Given the description of an element on the screen output the (x, y) to click on. 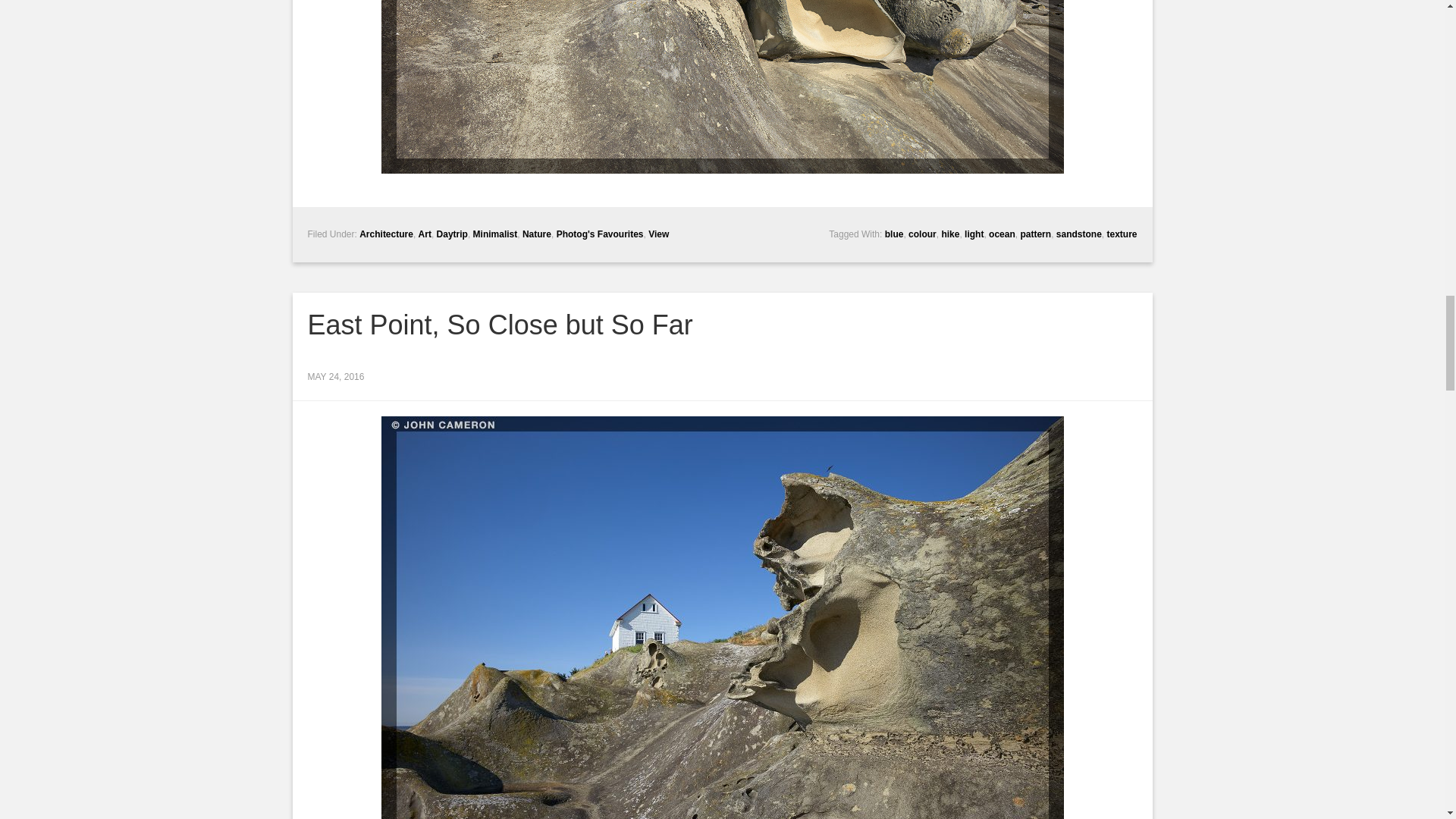
texture (1121, 234)
Daytrip (451, 234)
Nature (536, 234)
East Point, So Close but So Far (500, 324)
colour (922, 234)
light (973, 234)
Minimalist (495, 234)
Art (424, 234)
pattern (1035, 234)
ocean (1001, 234)
